Given the description of an element on the screen output the (x, y) to click on. 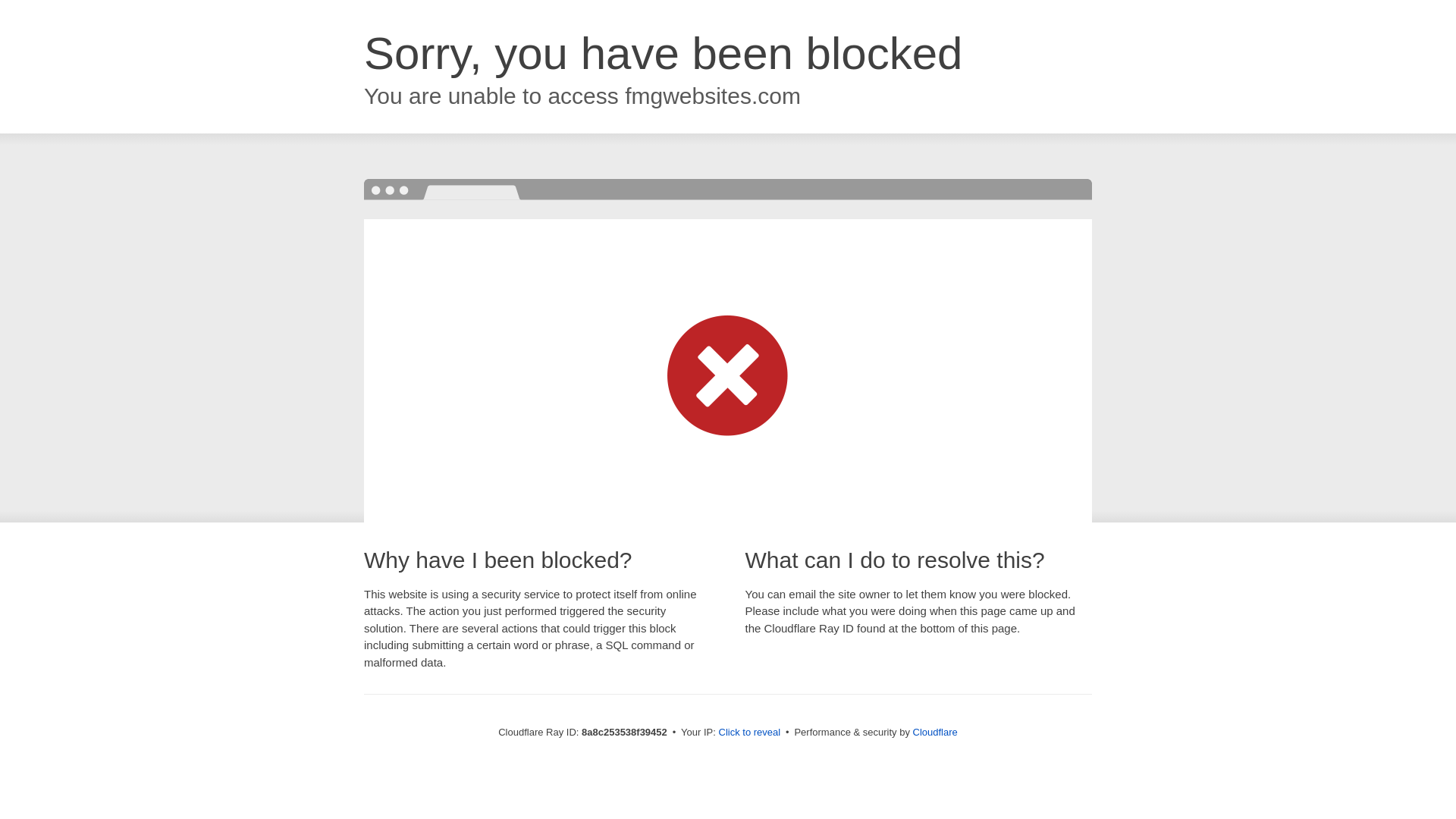
Cloudflare (935, 731)
Click to reveal (749, 732)
